Given the description of an element on the screen output the (x, y) to click on. 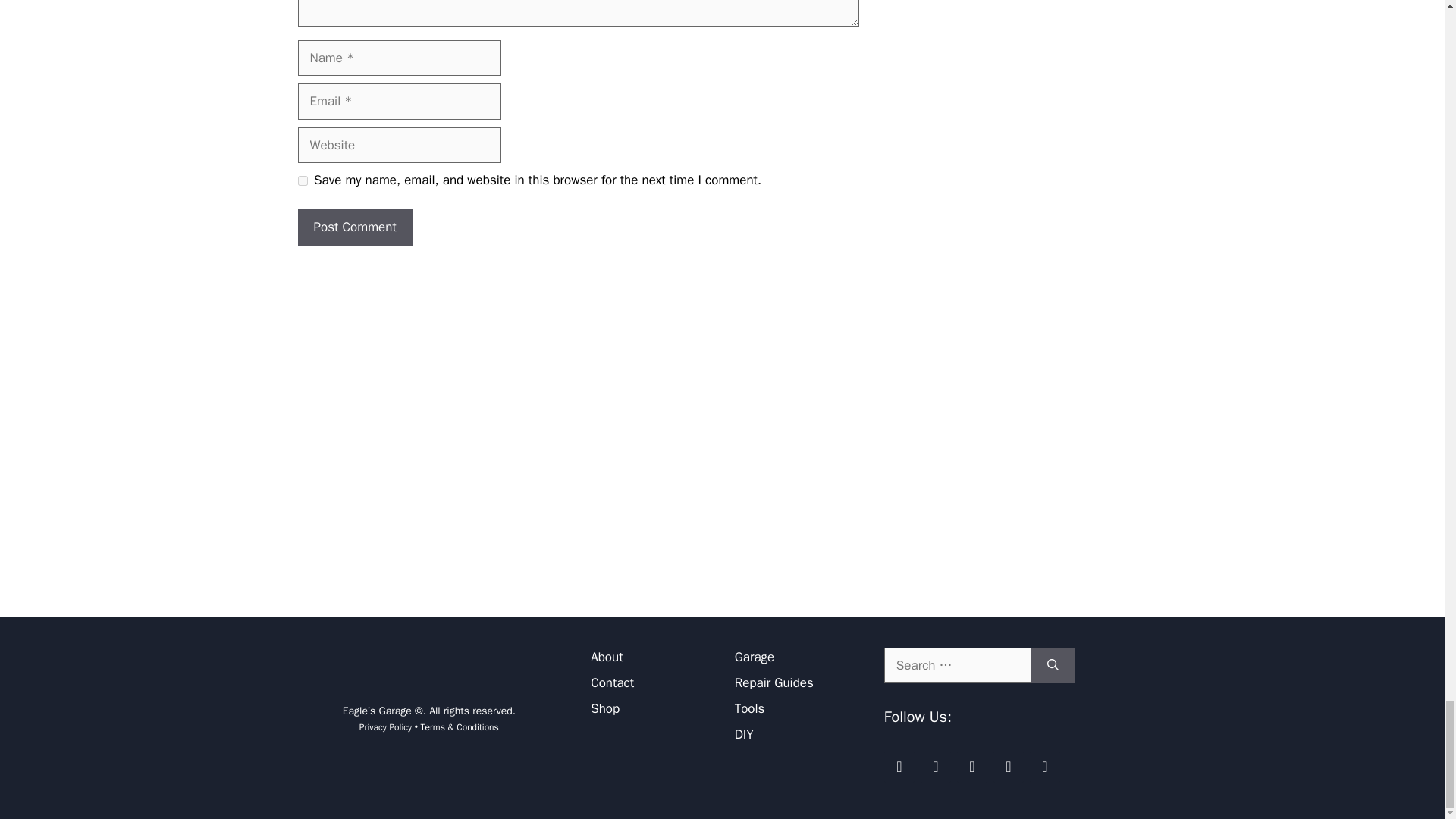
Post Comment (354, 227)
yes (302, 180)
